Given the description of an element on the screen output the (x, y) to click on. 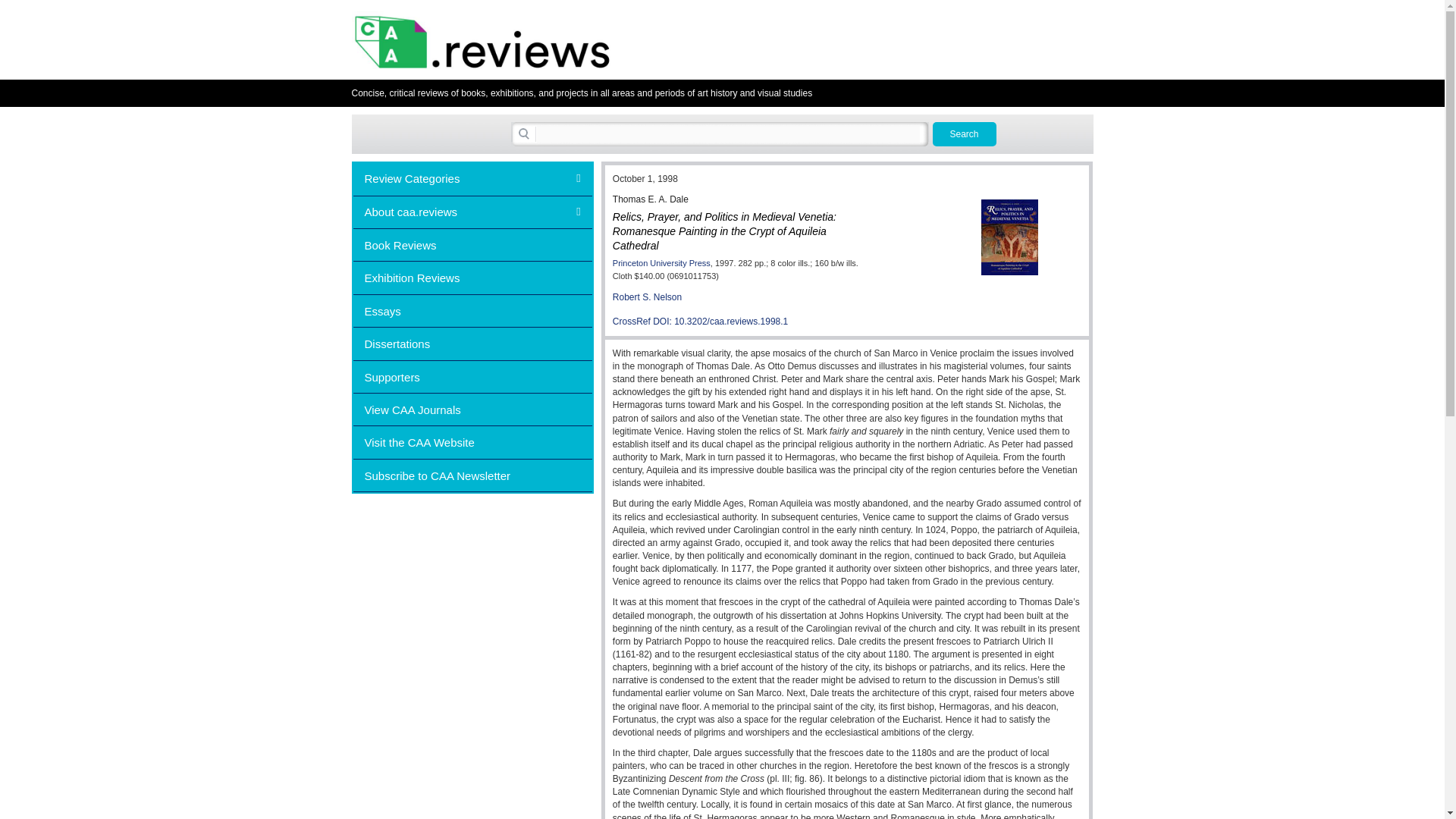
Review Categories (472, 178)
Search (964, 134)
Search (964, 134)
